Given the description of an element on the screen output the (x, y) to click on. 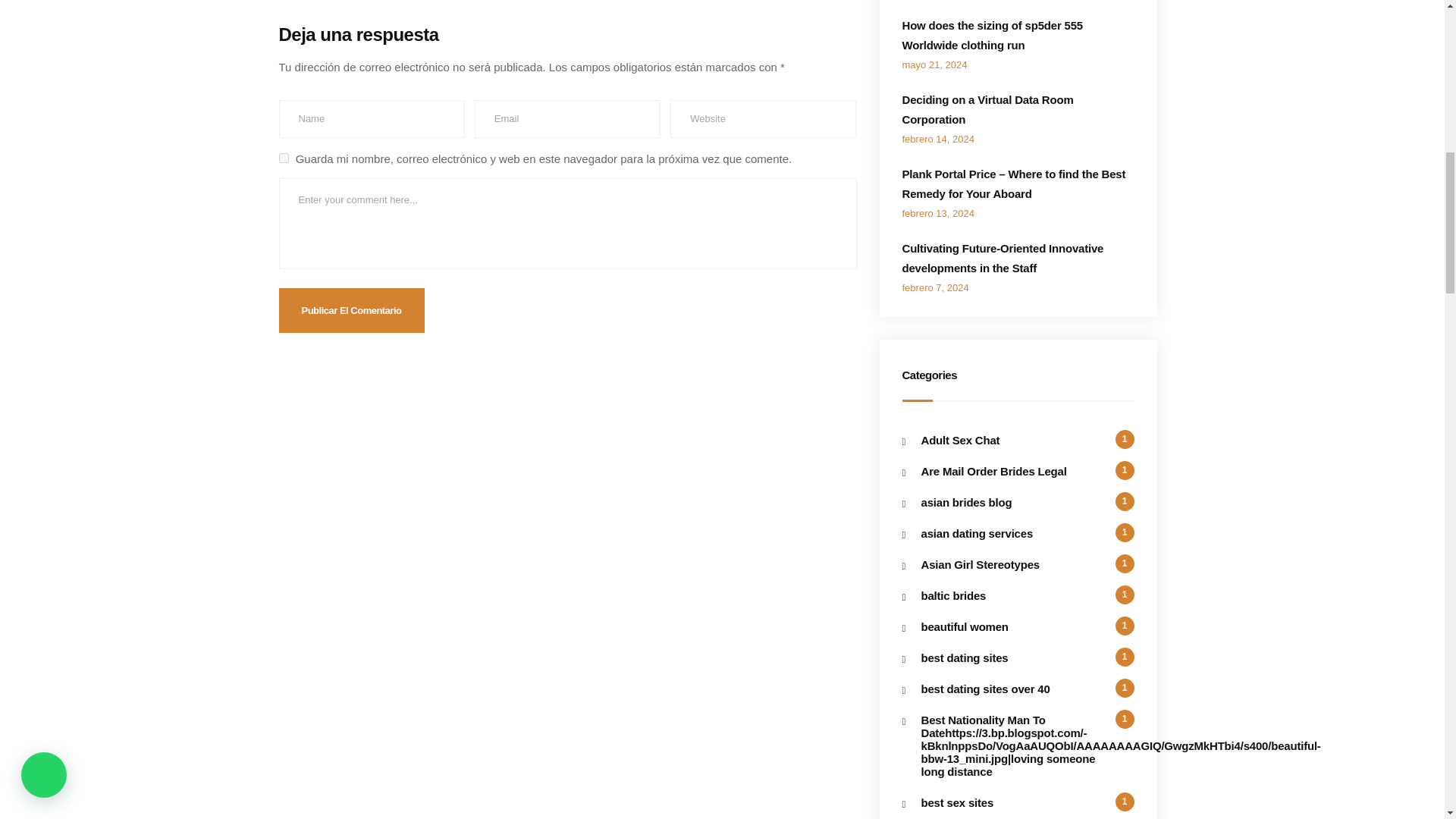
Publicar el comentario (352, 310)
yes (283, 157)
